Given the description of an element on the screen output the (x, y) to click on. 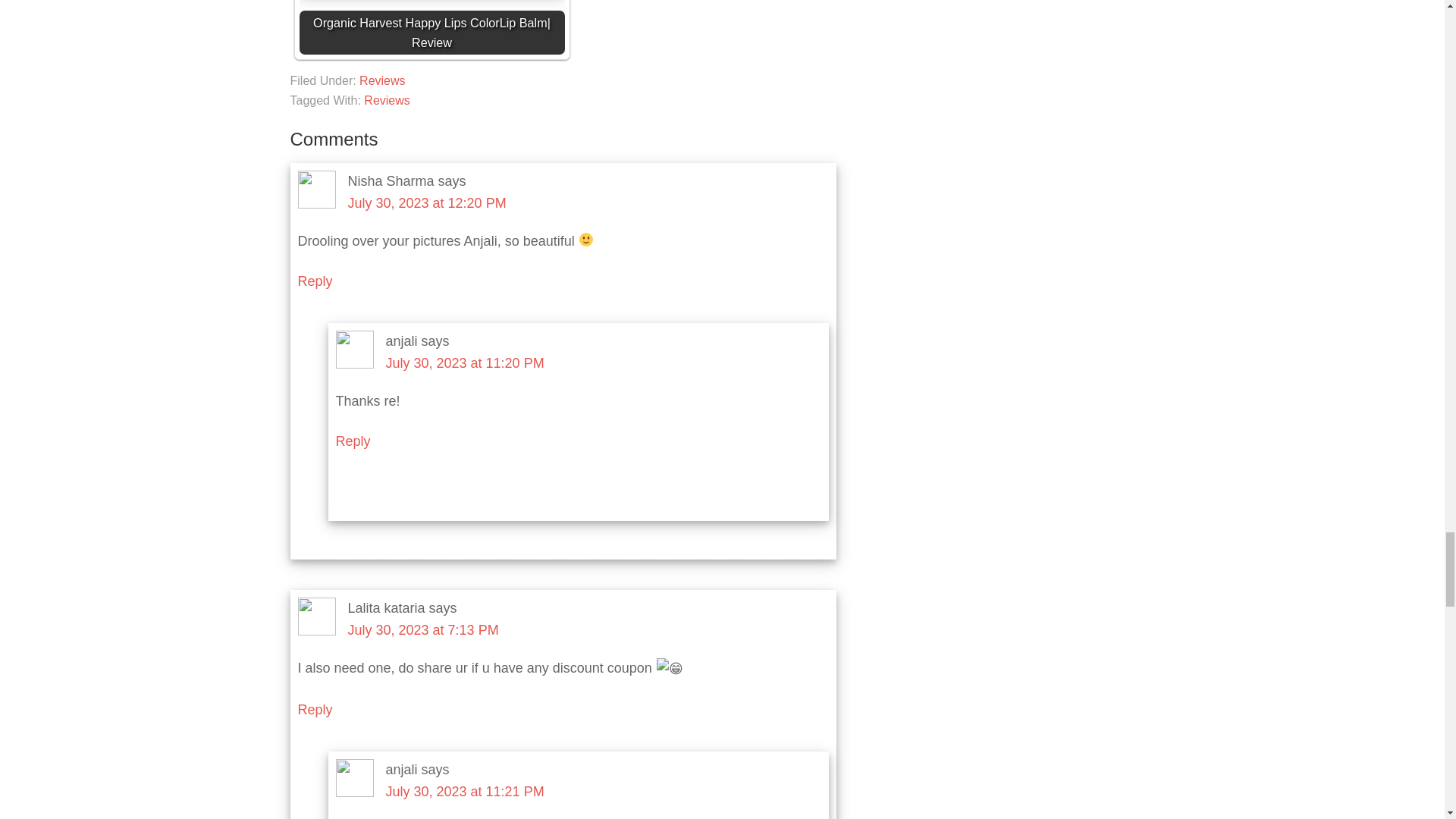
July 30, 2023 at 11:21 PM (464, 791)
Reviews (381, 80)
July 30, 2023 at 11:20 PM (464, 363)
Reply (314, 709)
July 30, 2023 at 7:13 PM (422, 630)
July 30, 2023 at 12:20 PM (426, 202)
Reply (351, 441)
Reply (314, 281)
Reviews (386, 100)
